Given the description of an element on the screen output the (x, y) to click on. 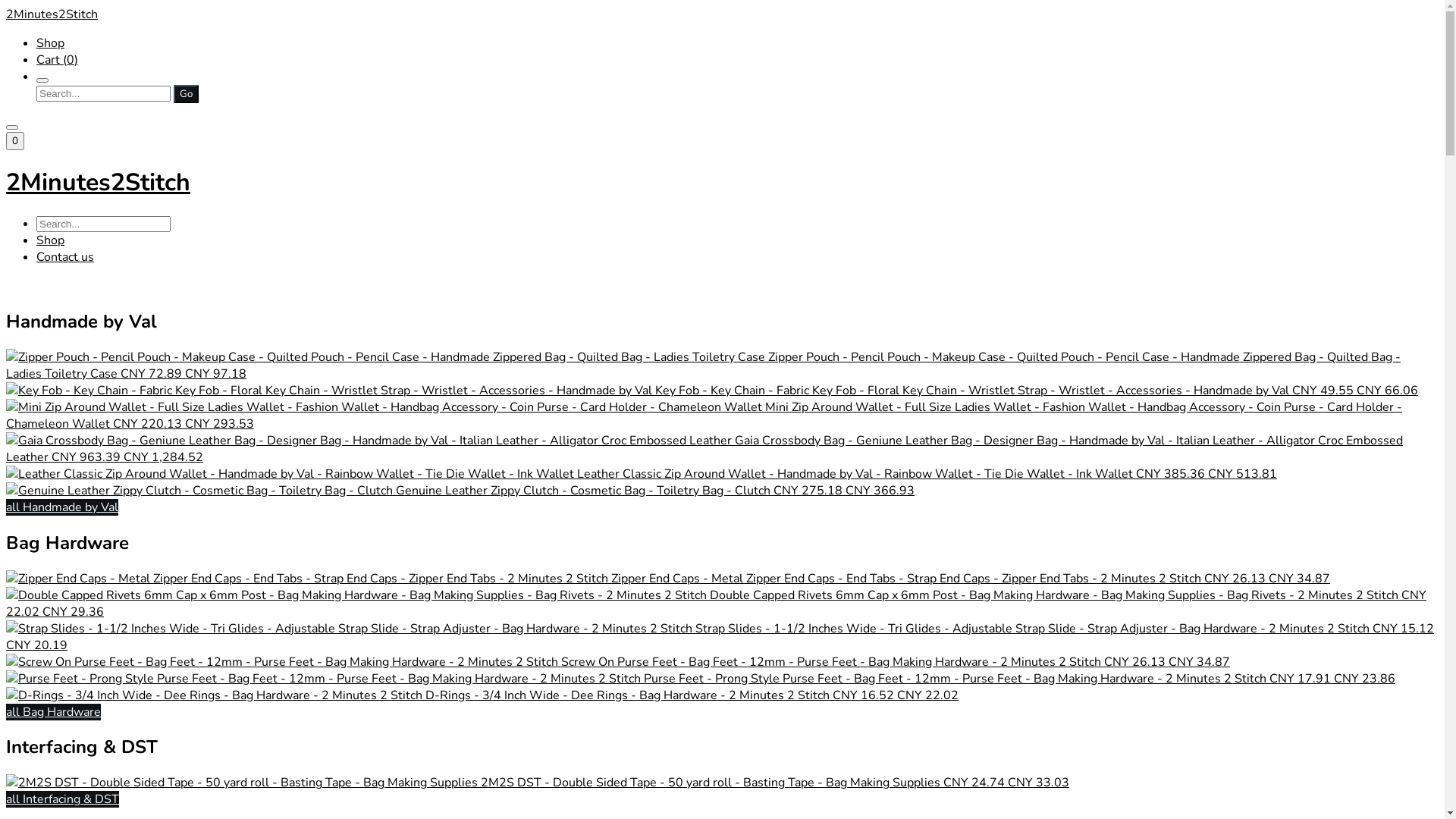
2Minutes2Stitch Element type: text (722, 182)
2Minutes2Stitch Element type: text (722, 14)
all Interfacing & DST Element type: text (62, 798)
Cart (0) Element type: text (57, 59)
0 Element type: text (15, 140)
all Bag Hardware Element type: text (53, 711)
Shop Element type: text (50, 42)
Shop Element type: text (50, 240)
all Handmade by Val Element type: text (62, 506)
Contact us Element type: text (65, 256)
Go Element type: text (185, 93)
